Given the description of an element on the screen output the (x, y) to click on. 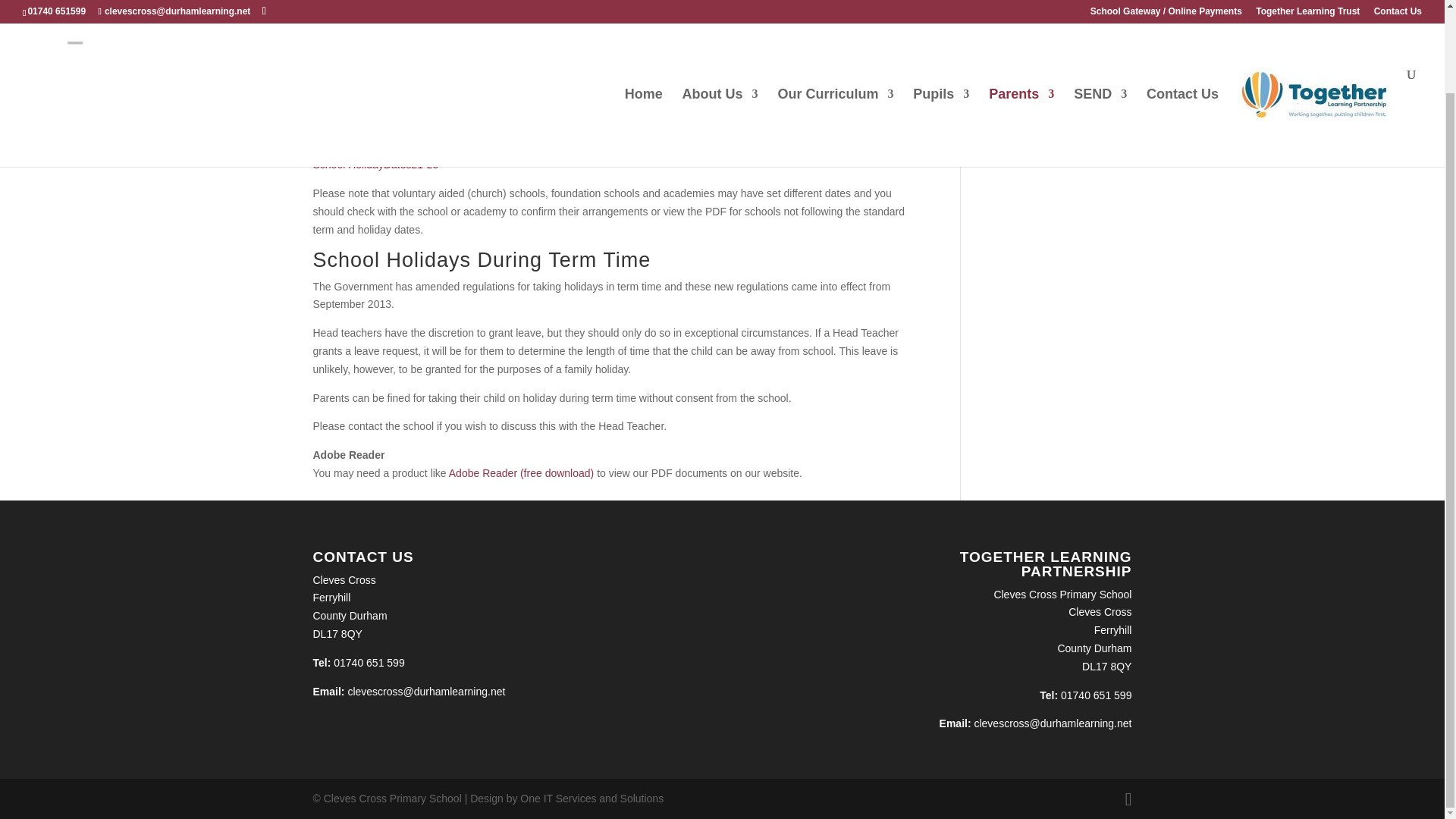
Our Curriculum (835, 25)
Pupils (940, 25)
Home (643, 25)
About Us (720, 25)
